Given the description of an element on the screen output the (x, y) to click on. 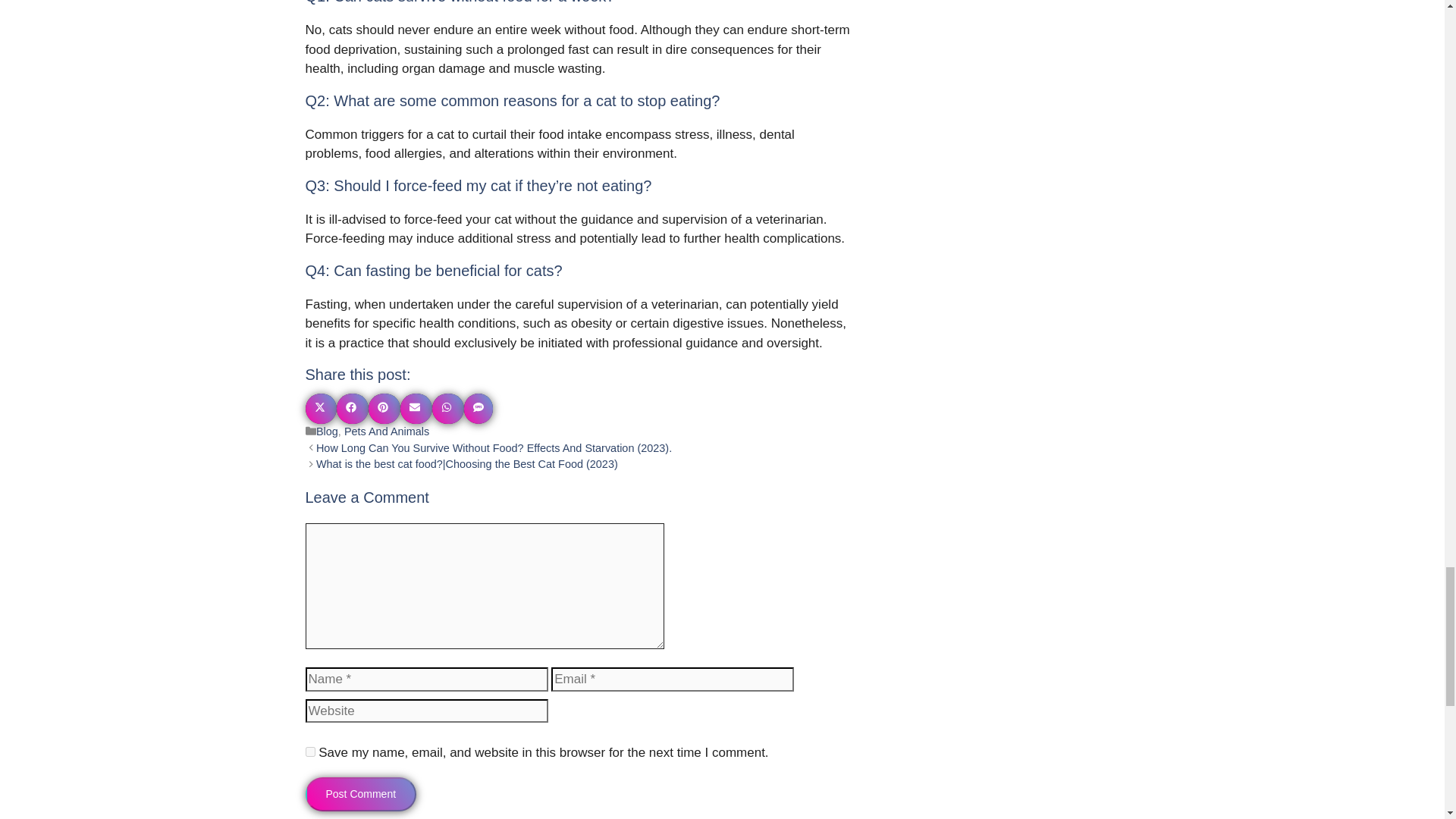
Share on Pinterest (384, 408)
Share on SMS (478, 408)
Share on Facebook (352, 408)
Share on Email (416, 408)
yes (309, 751)
Post Comment (360, 794)
Share on WhatsApp (448, 408)
